Given the description of an element on the screen output the (x, y) to click on. 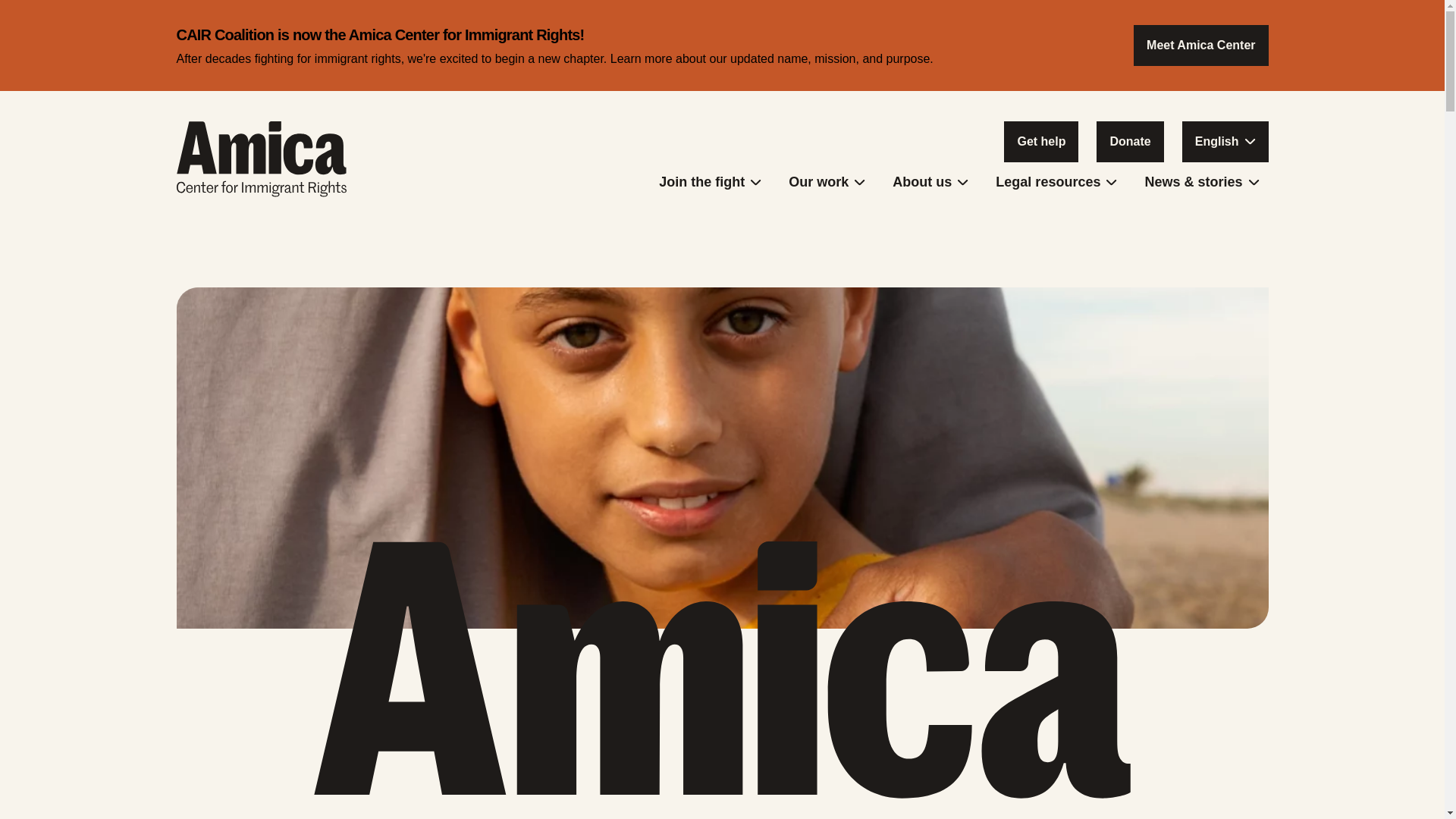
Our work (826, 183)
Become a pro bono partner (709, 230)
Join the fight (709, 183)
Partners (929, 222)
Legal Advisory Committee (929, 237)
About us (929, 183)
Legal resources (1056, 183)
Ways to give (709, 222)
Meet Amica Center (1201, 45)
English (1225, 141)
Donate (1129, 141)
Stories of impact (1197, 222)
Detained Adult Program (826, 237)
Board of Directors (929, 230)
Get help (1041, 141)
